Given the description of an element on the screen output the (x, y) to click on. 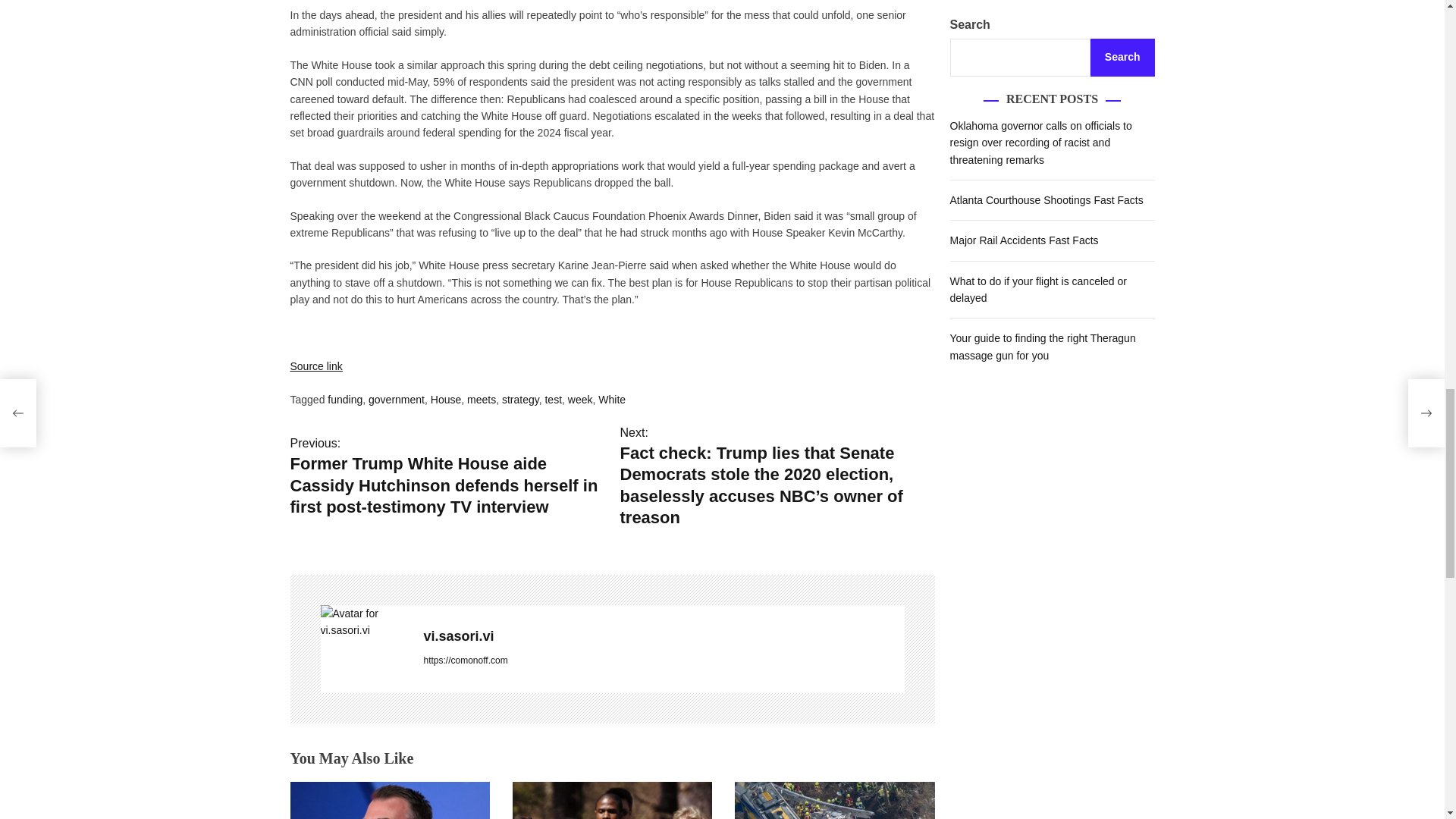
vi.sasori.vi (363, 622)
vi.sasori.vi (663, 635)
